Given the description of an element on the screen output the (x, y) to click on. 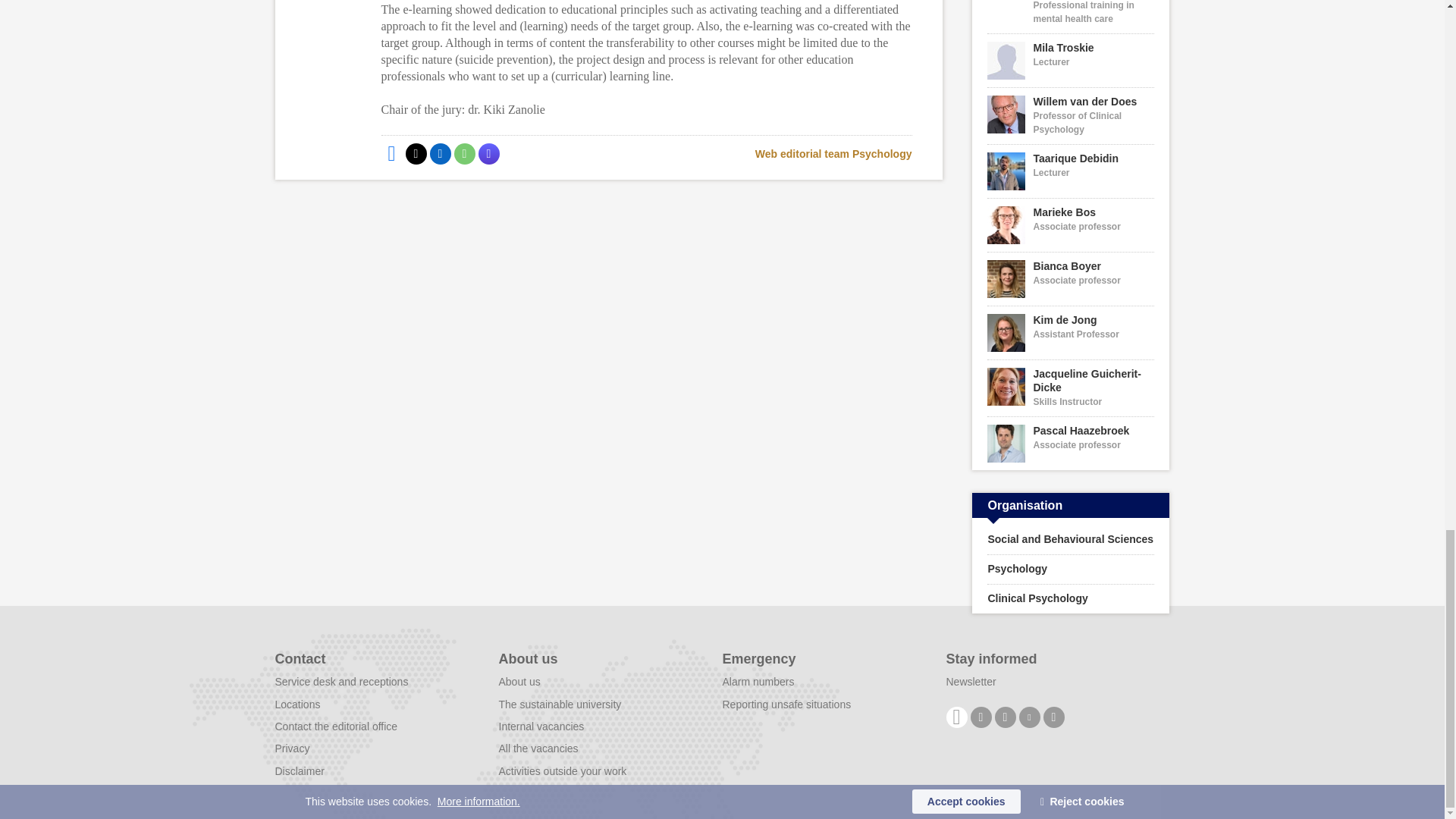
Share on LinkedIn (439, 153)
Share by WhatsApp (463, 153)
Share on Facebook (390, 153)
Share on X (415, 153)
Share by Mastodon (488, 153)
